Given the description of an element on the screen output the (x, y) to click on. 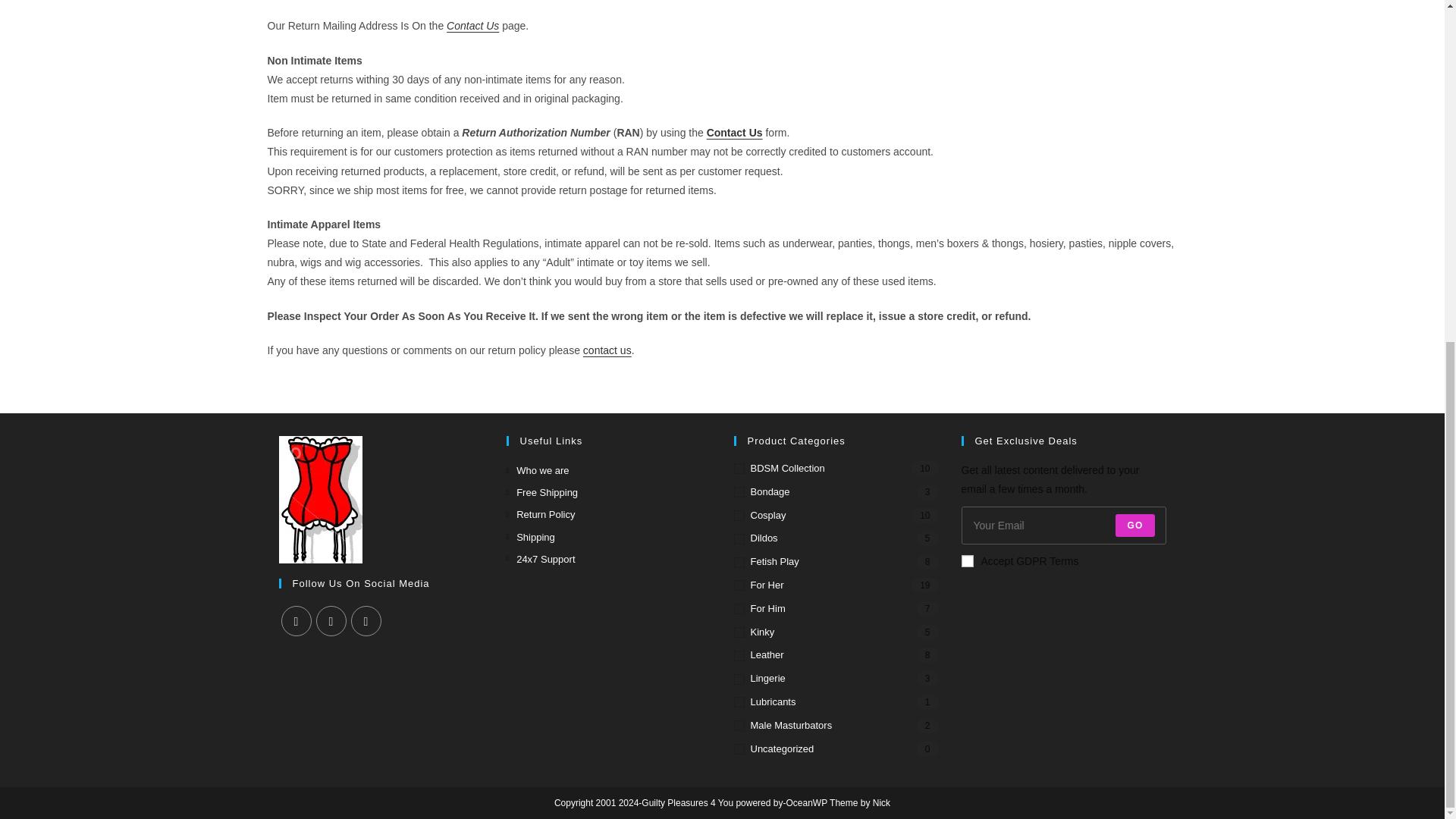
Return Policy (540, 514)
24x7 Support (540, 559)
Shipping (530, 537)
1 (967, 561)
Dildos (836, 538)
BDSM Collection (836, 468)
Who we are (537, 470)
Uncategorized (836, 749)
Fetish Play (836, 562)
Cosplay (836, 515)
